Given the description of an element on the screen output the (x, y) to click on. 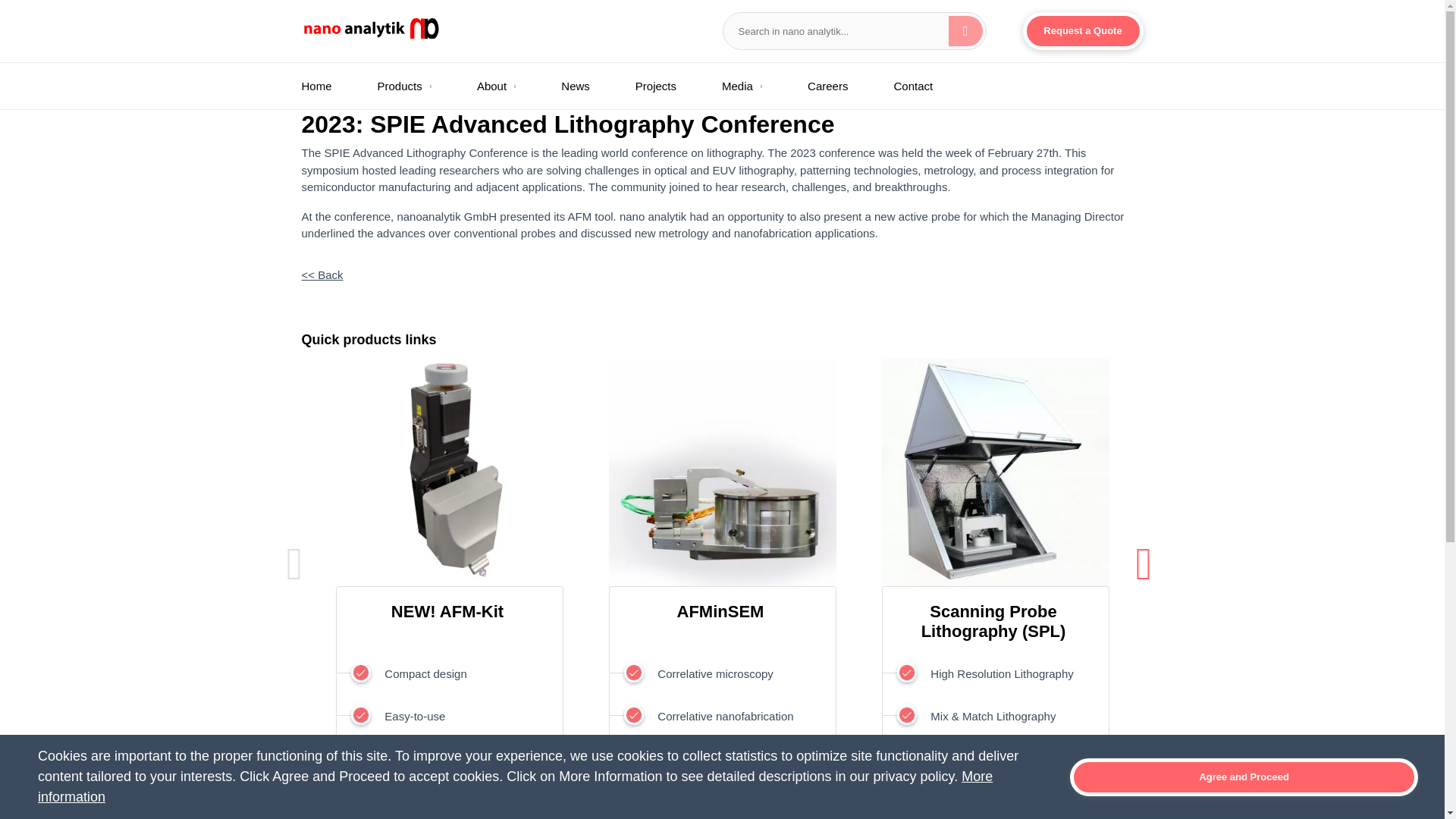
About (503, 89)
Projects (663, 89)
Contact (919, 89)
Careers (834, 89)
Projects (663, 89)
Home (331, 89)
Products (411, 89)
News (583, 89)
Products (411, 89)
News (583, 89)
Media (749, 89)
Request a Quote (1082, 30)
Home (331, 89)
About (503, 89)
